Given the description of an element on the screen output the (x, y) to click on. 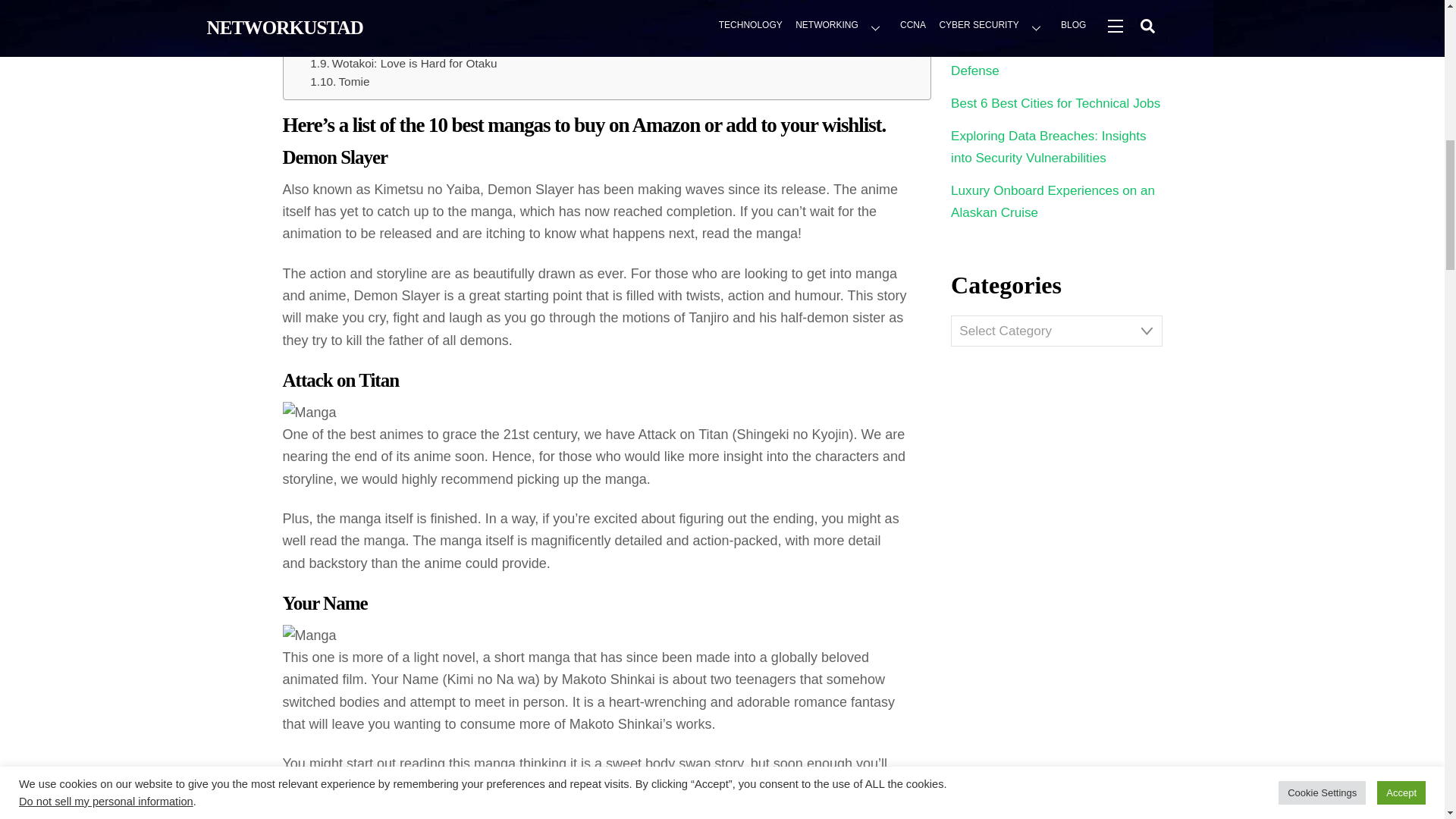
Tomie (339, 81)
Mob Psycho 100 (364, 8)
Mob Psycho 100 (364, 8)
Chainsaw Man (359, 45)
Wotakoi: Love is Hard for Otaku (403, 63)
Chainsaw Man (359, 45)
Tomie (339, 81)
Wotakoi: Love is Hard for Otaku (403, 63)
One Piece (348, 26)
One Piece (348, 26)
